Given the description of an element on the screen output the (x, y) to click on. 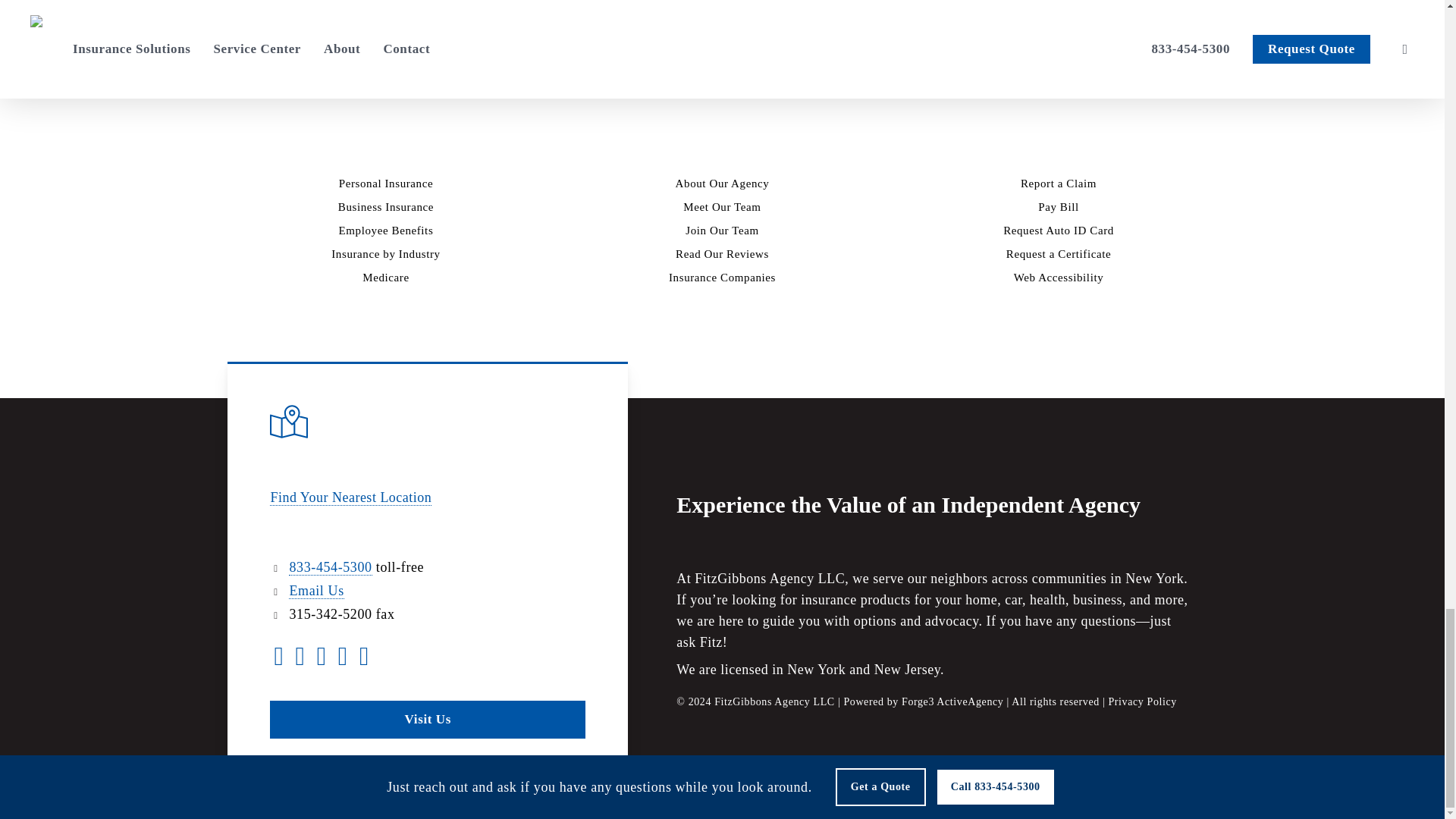
Visit page Personal Insurance (386, 183)
